Given the description of an element on the screen output the (x, y) to click on. 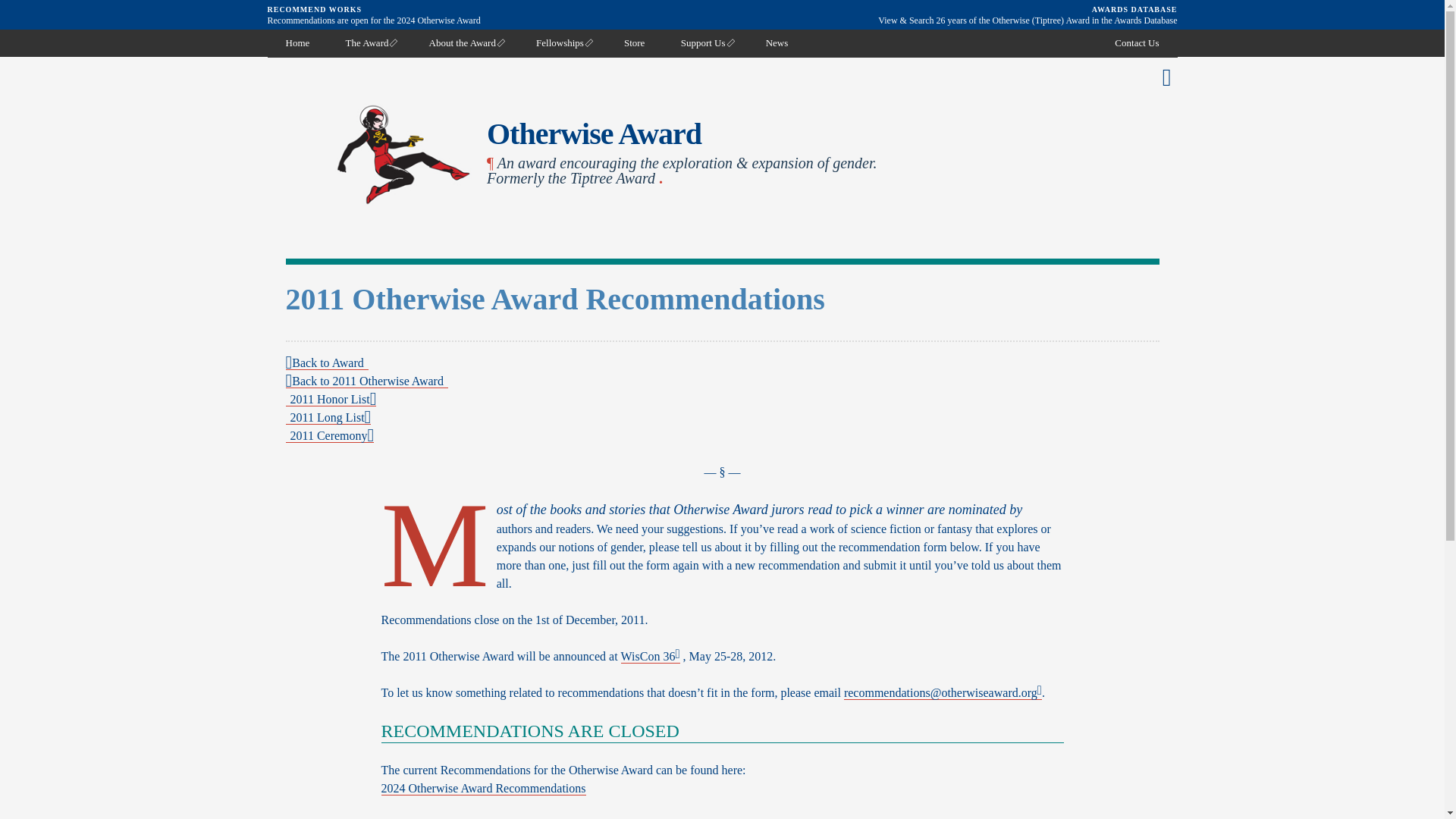
Home (296, 43)
Otherwise Award (593, 133)
2011 Ceremony (329, 436)
About the Award (464, 43)
Otherwise Award (593, 133)
The Award (369, 43)
2011 Long List (328, 418)
Back to 2011 Otherwise Award (365, 381)
2024 Otherwise Award (438, 20)
WisCon 36 (650, 656)
Contact Us (1136, 43)
Fellowships (562, 43)
Back to Award (326, 363)
News (777, 43)
Support Us (705, 43)
